Given the description of an element on the screen output the (x, y) to click on. 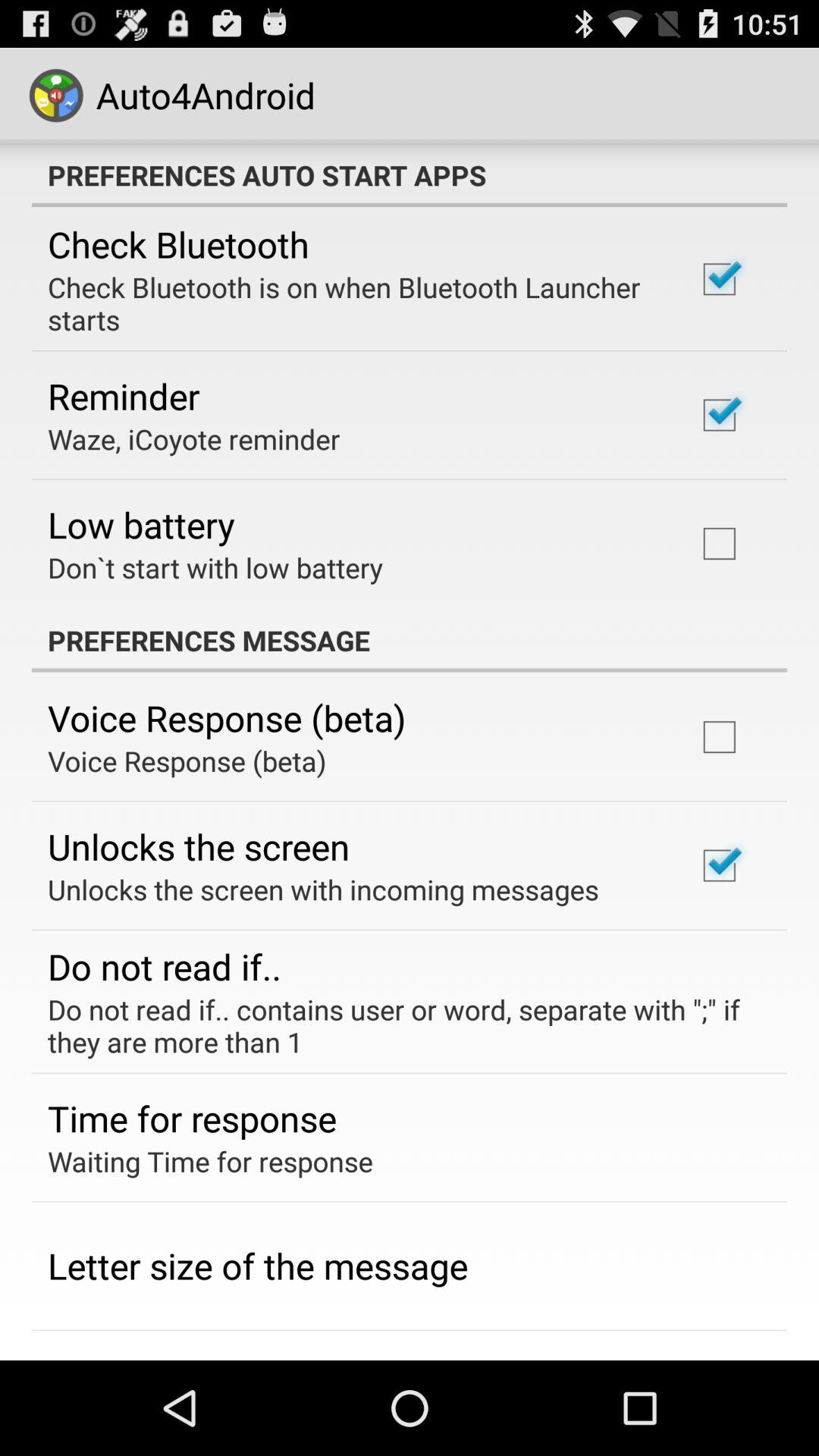
swipe until preferences auto start item (409, 175)
